Given the description of an element on the screen output the (x, y) to click on. 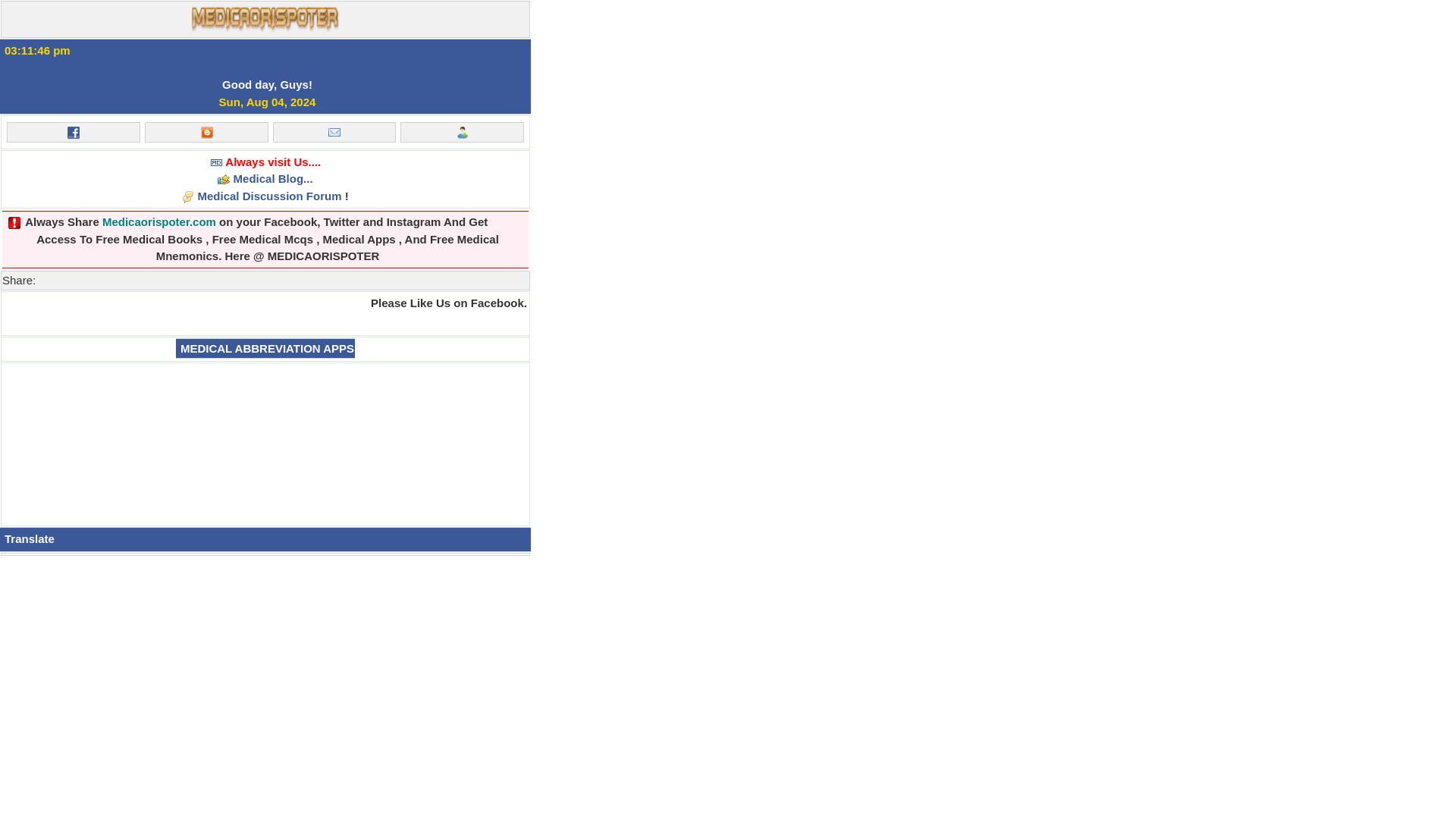
Medical Discussion Forum (269, 195)
Medicaorispoter.com (158, 221)
Medical Blog... (272, 178)
